Given the description of an element on the screen output the (x, y) to click on. 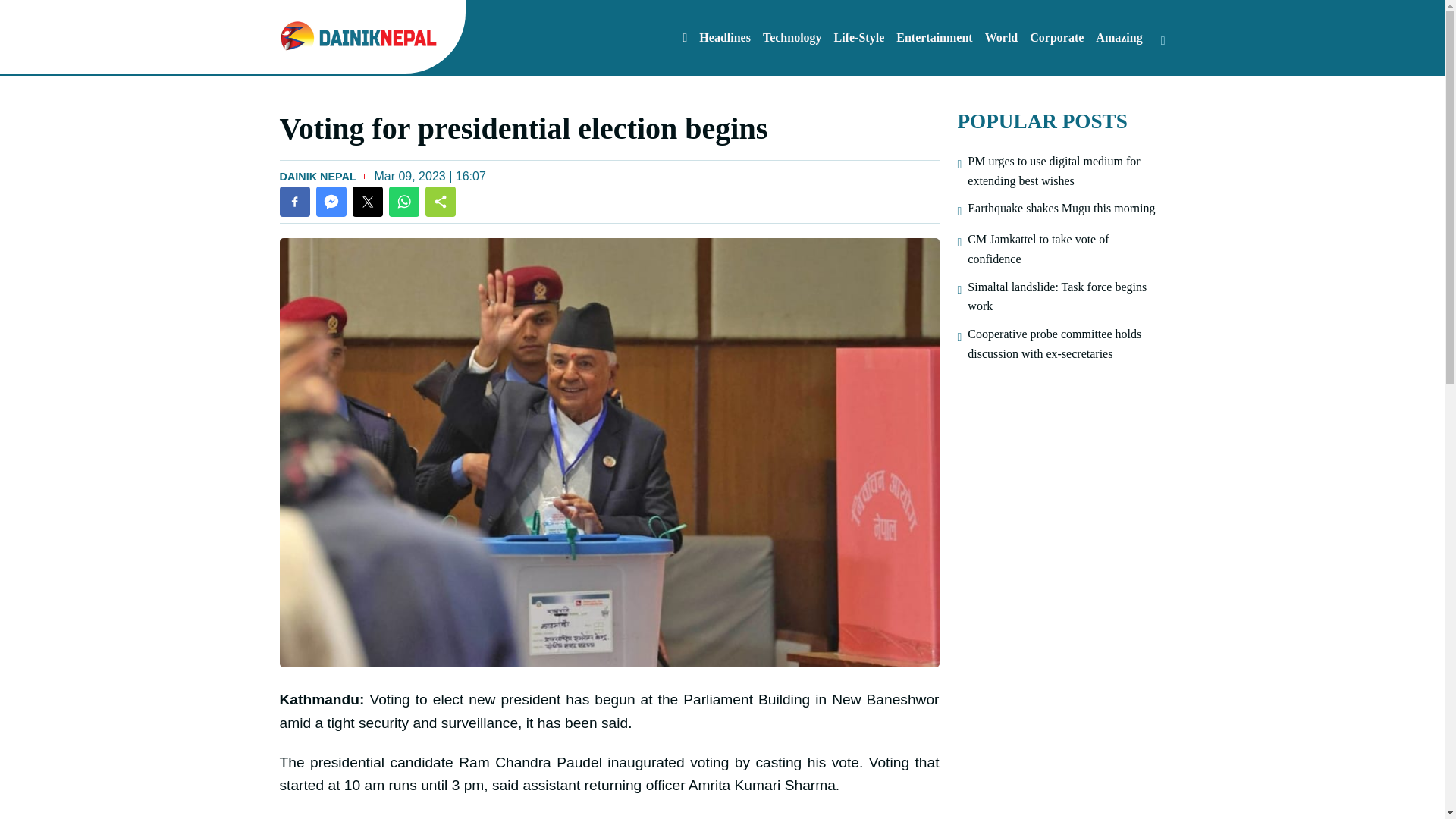
Corporate (1056, 37)
Simaltal landslide: Task force begins work (1066, 296)
Life-Style (859, 37)
Headlines (725, 37)
CM Jamkattel to take vote of confidence (1066, 249)
World (1001, 37)
Amazing (1118, 37)
Earthquake shakes Mugu this morning (1061, 210)
Technology (792, 37)
PM urges to use digital medium for extending best wishes (1066, 170)
Entertainment (933, 37)
